Given the description of an element on the screen output the (x, y) to click on. 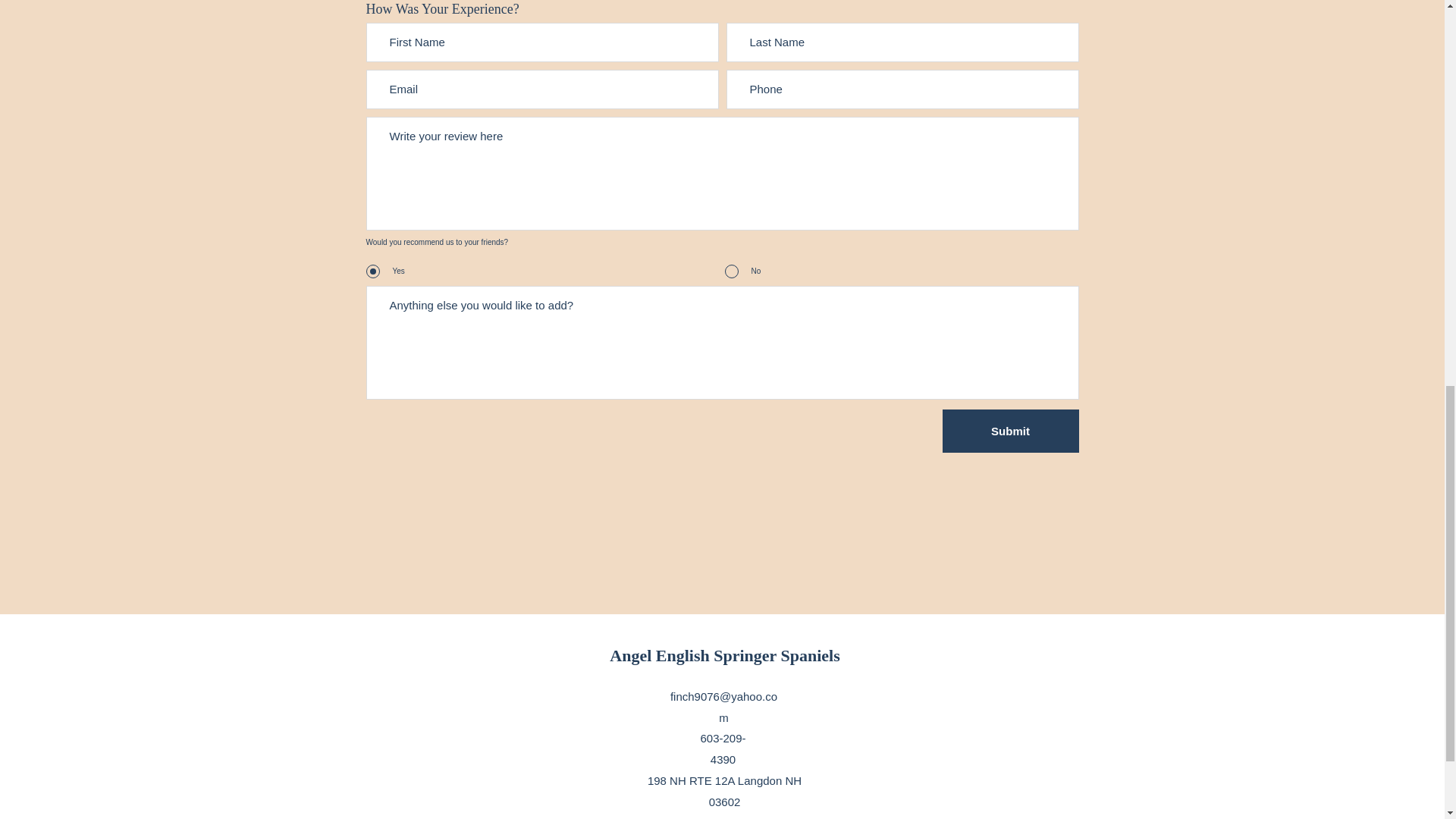
Submit (1010, 430)
Angel English Springer Spaniels (725, 655)
